Given the description of an element on the screen output the (x, y) to click on. 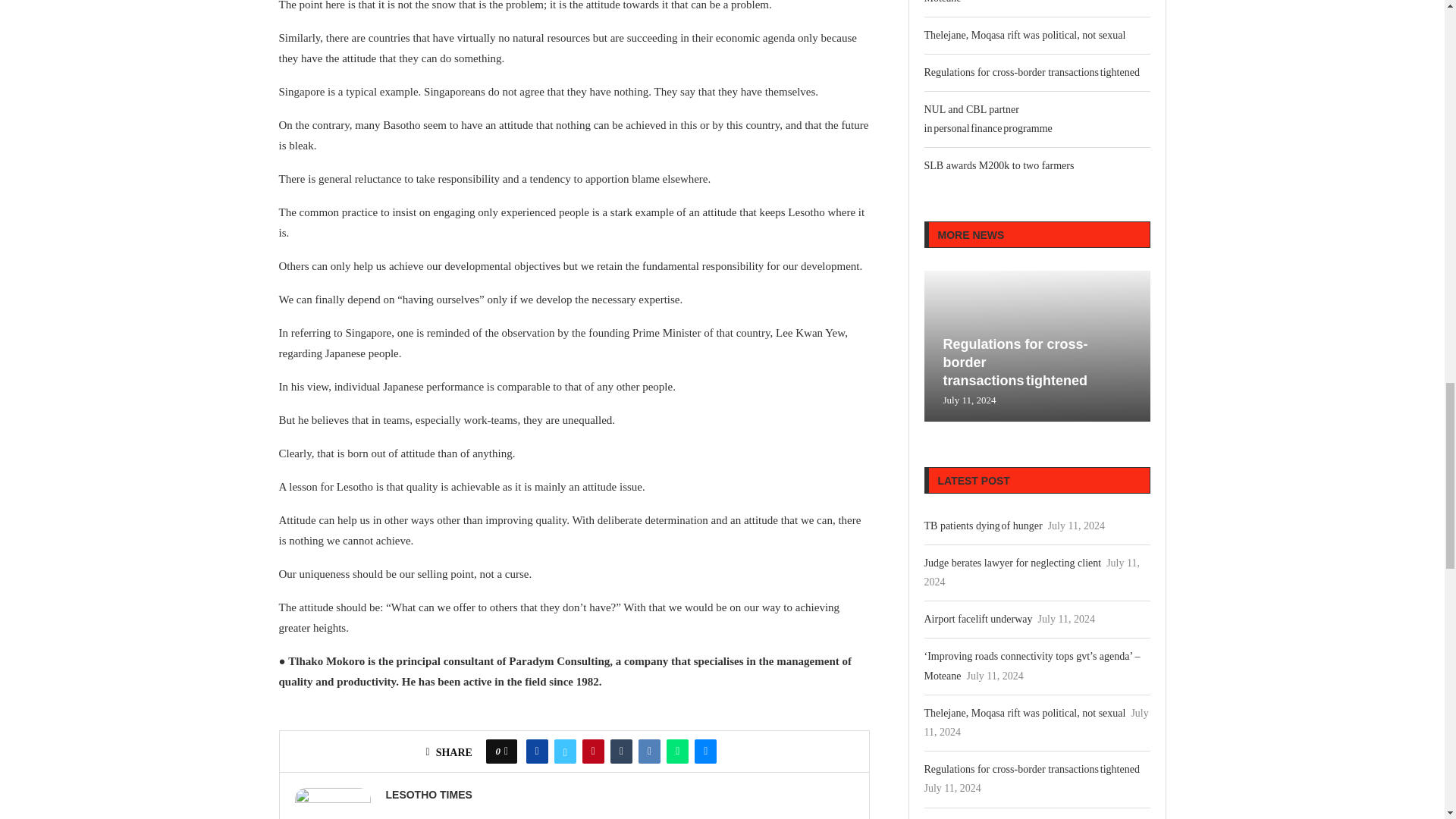
Author Lesotho Times (428, 794)
